Given the description of an element on the screen output the (x, y) to click on. 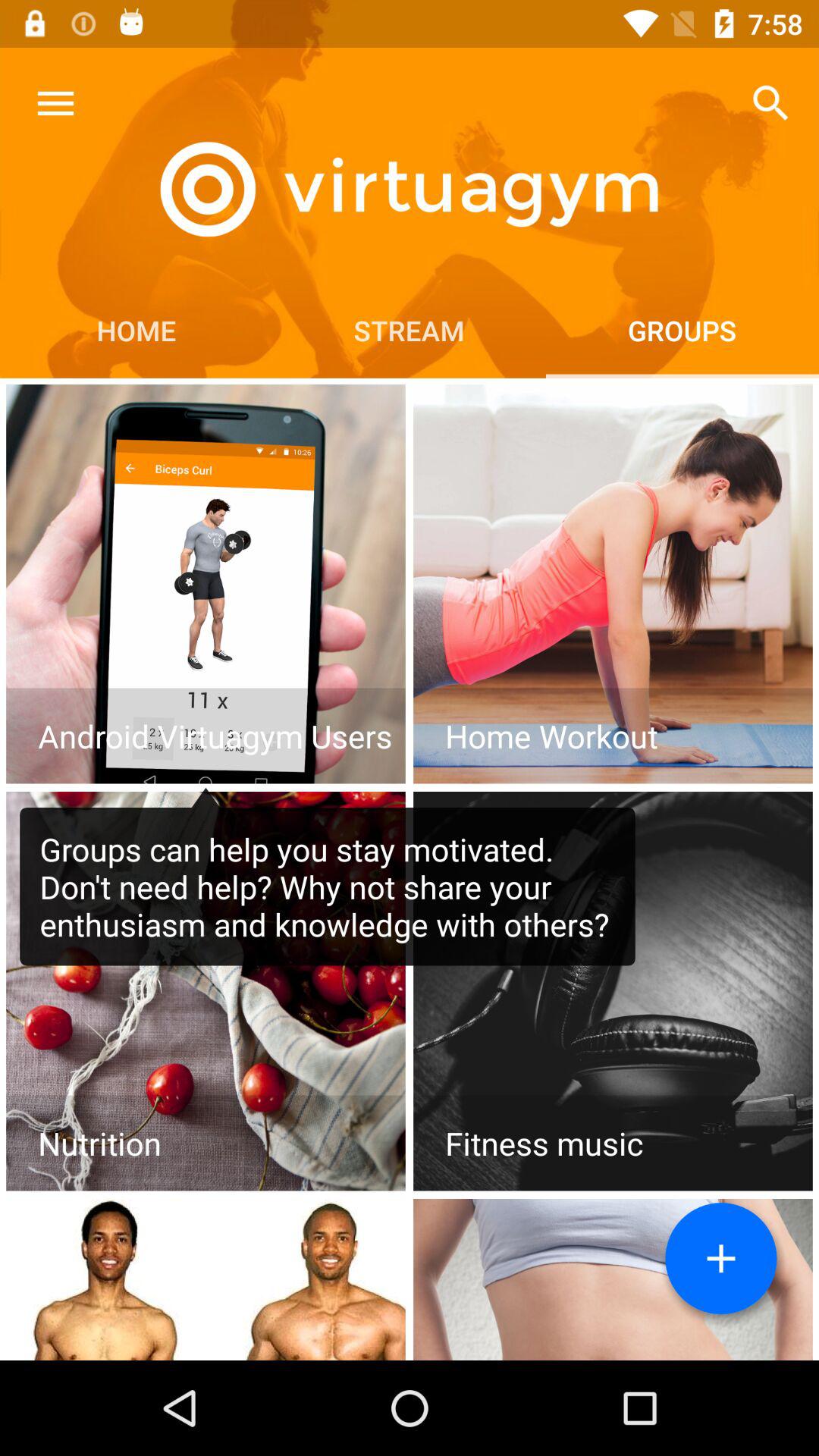
add new group (721, 1258)
